Given the description of an element on the screen output the (x, y) to click on. 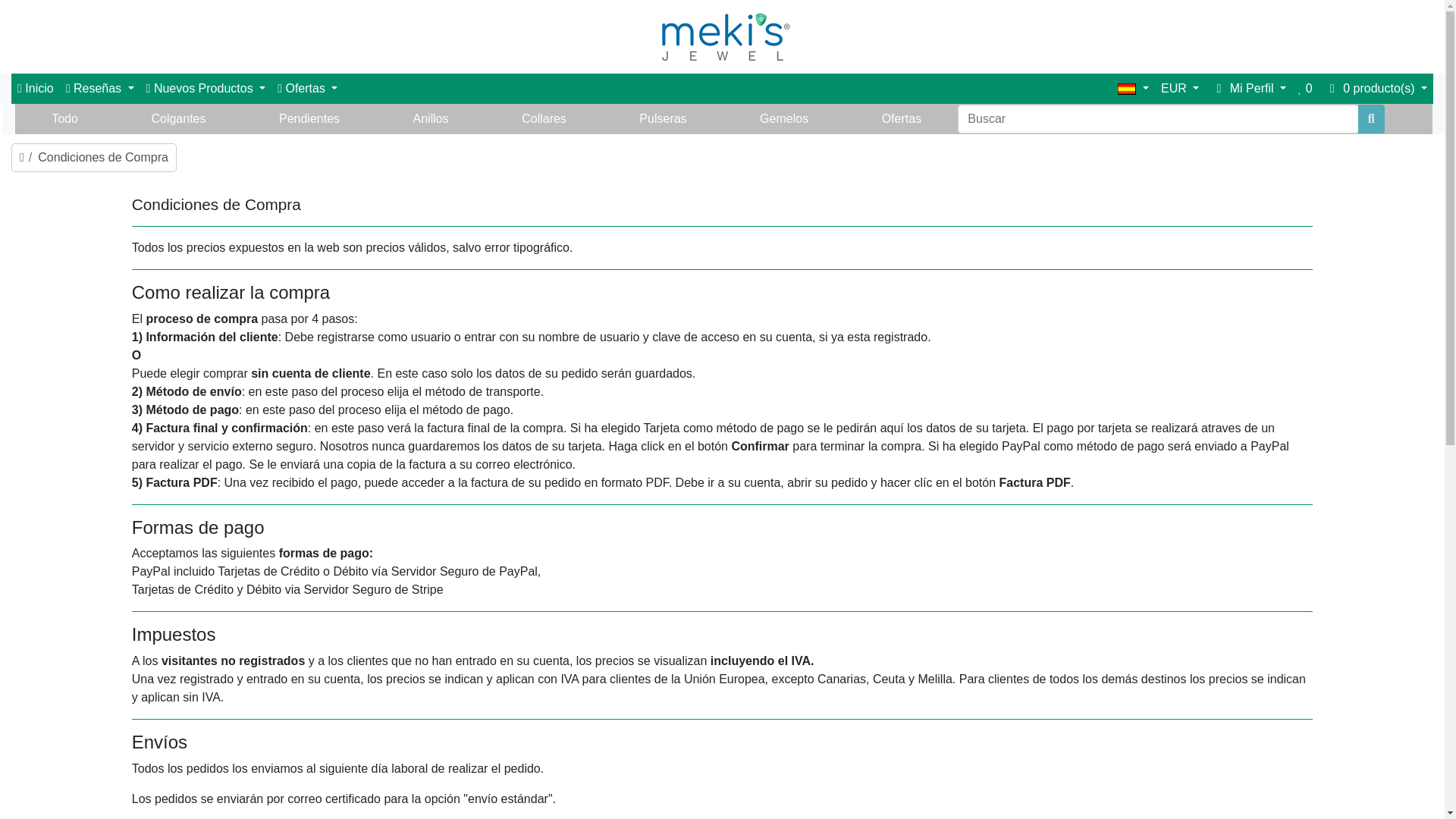
Inicio (35, 88)
Ofertas (306, 88)
Nuevos Productos (205, 88)
Meki's (721, 36)
